Given the description of an element on the screen output the (x, y) to click on. 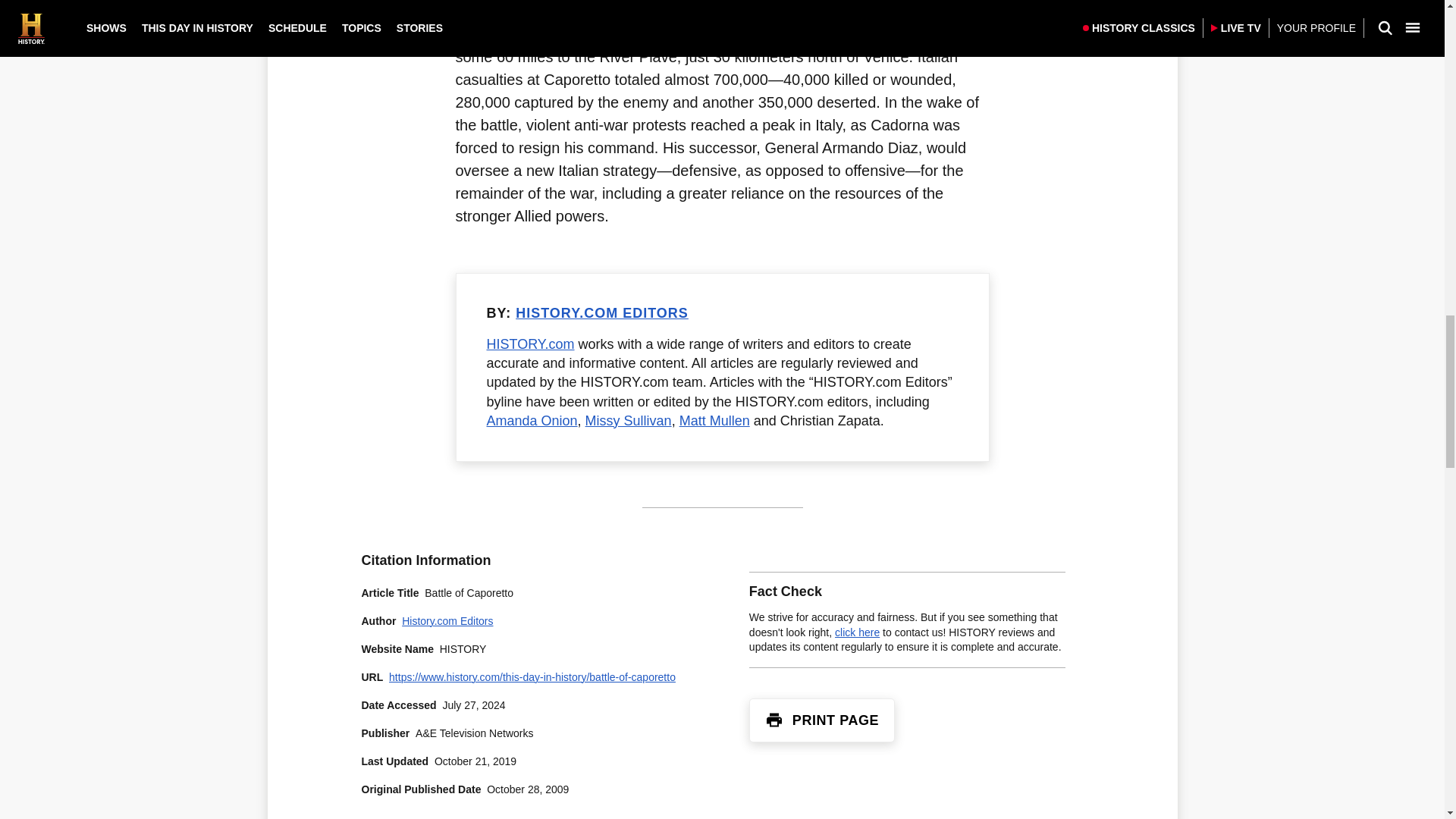
Print (774, 720)
